Given the description of an element on the screen output the (x, y) to click on. 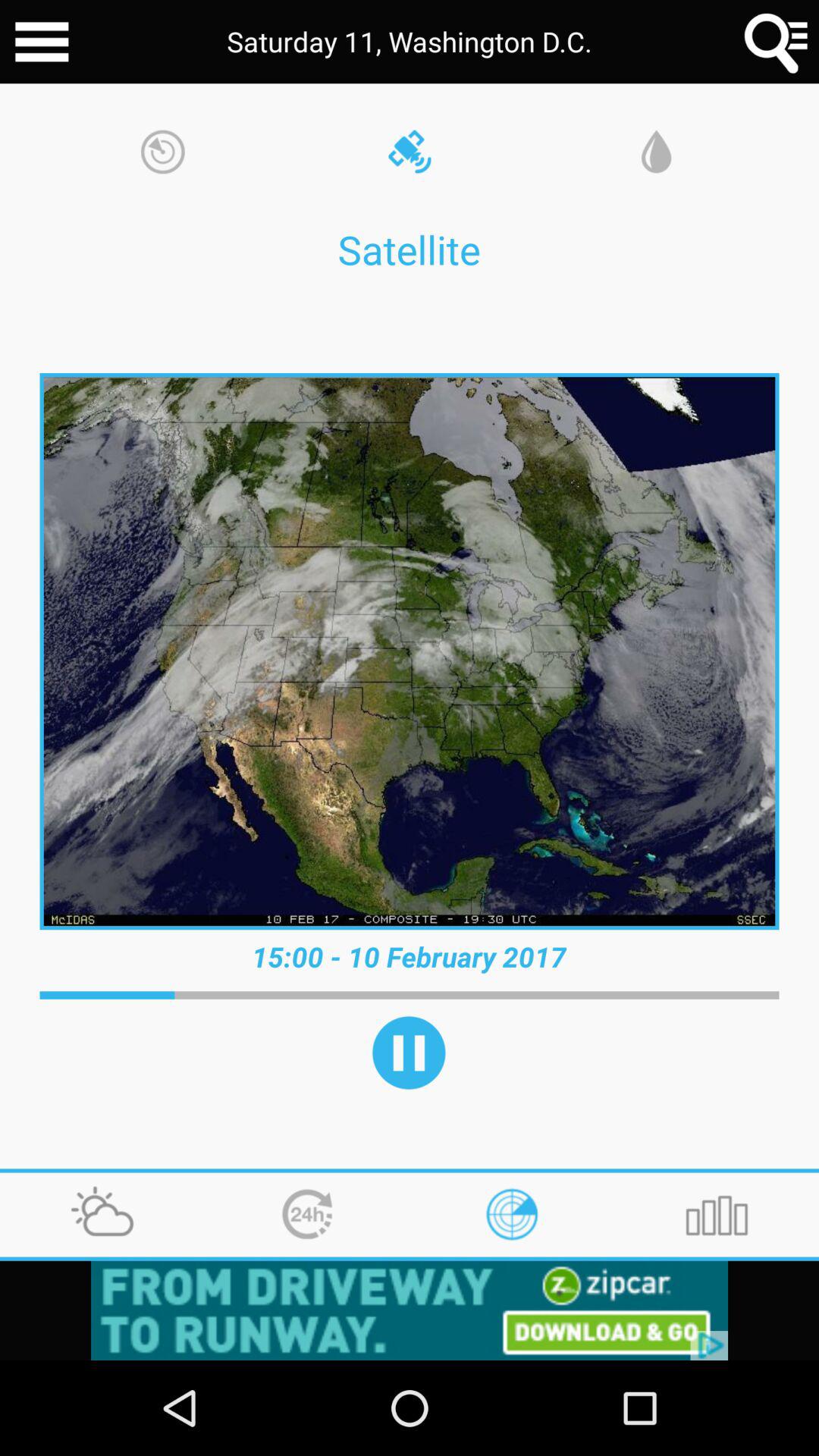
click button (409, 1310)
